Given the description of an element on the screen output the (x, y) to click on. 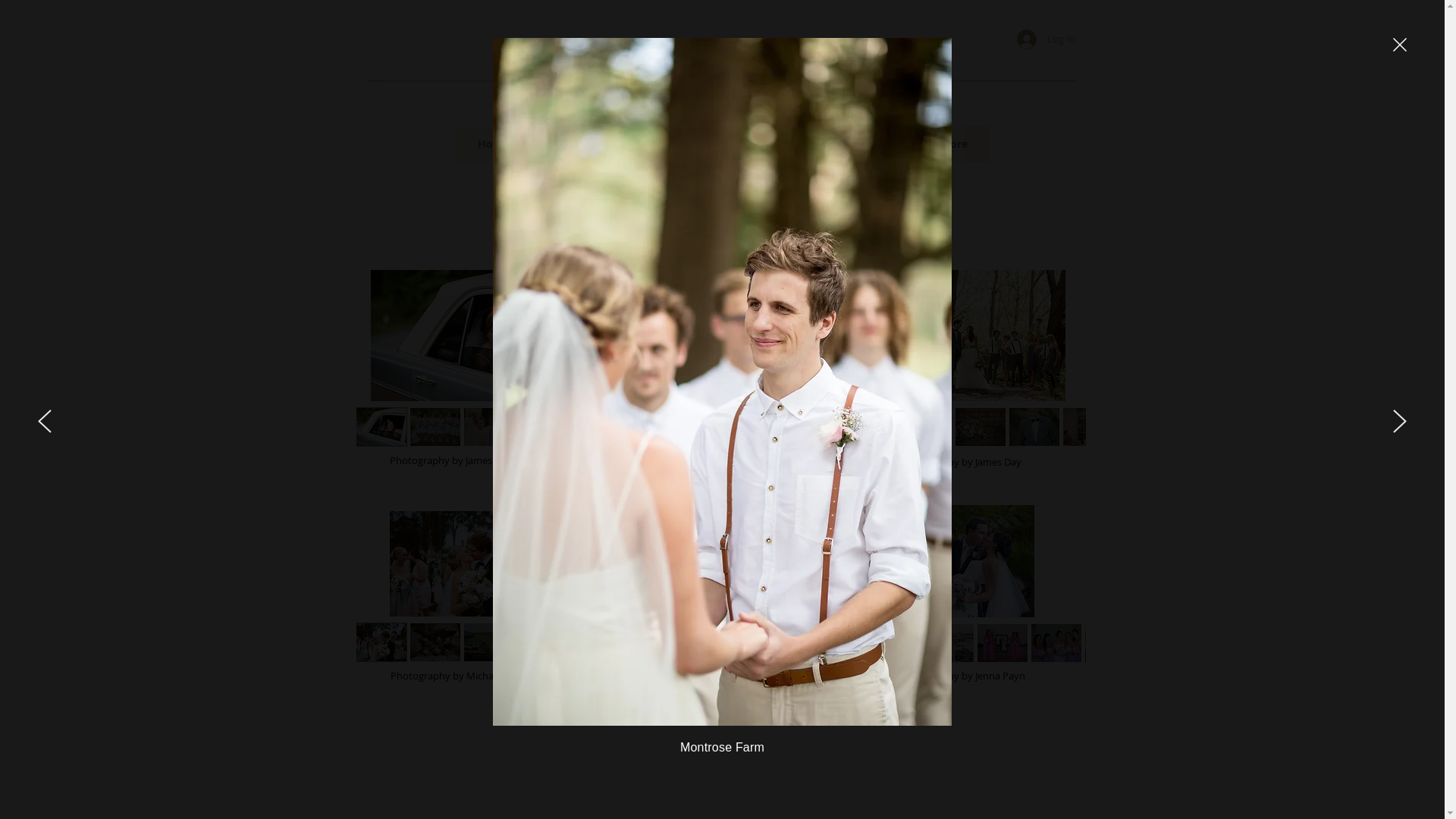
Contact Element type: text (835, 142)
Online Store Element type: text (934, 142)
Gallery Element type: text (573, 142)
Home Element type: text (493, 142)
Profile Element type: text (654, 142)
Log In Element type: text (1045, 38)
Instagram Element type: text (743, 142)
